Given the description of an element on the screen output the (x, y) to click on. 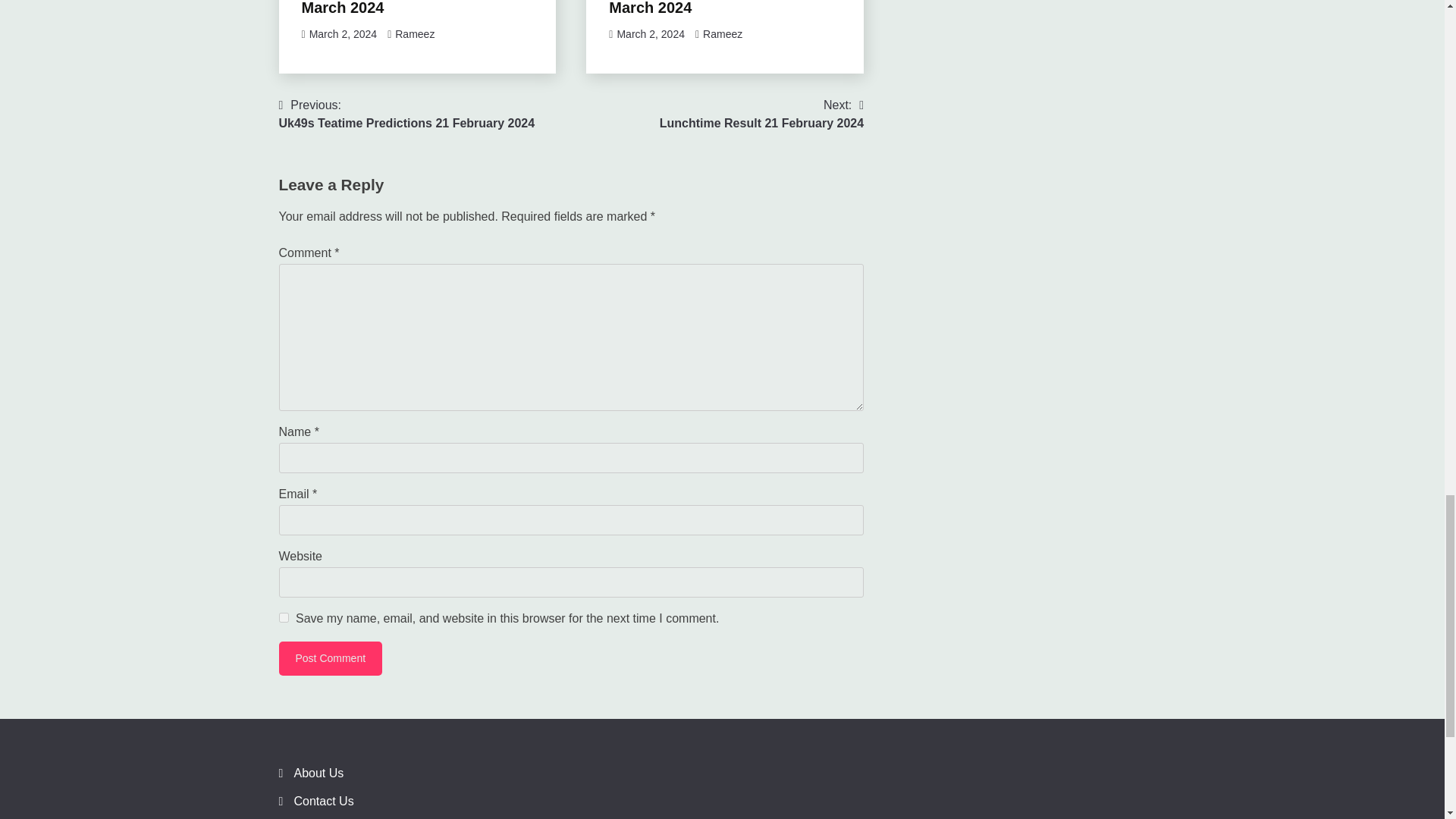
Rameez (722, 33)
Post Comment (330, 658)
Uk49s Teatime Predictions 02 March 2024 (761, 114)
yes (715, 7)
March 2, 2024 (283, 617)
Post Comment (342, 33)
Rameez (330, 658)
March 2, 2024 (413, 33)
